Given the description of an element on the screen output the (x, y) to click on. 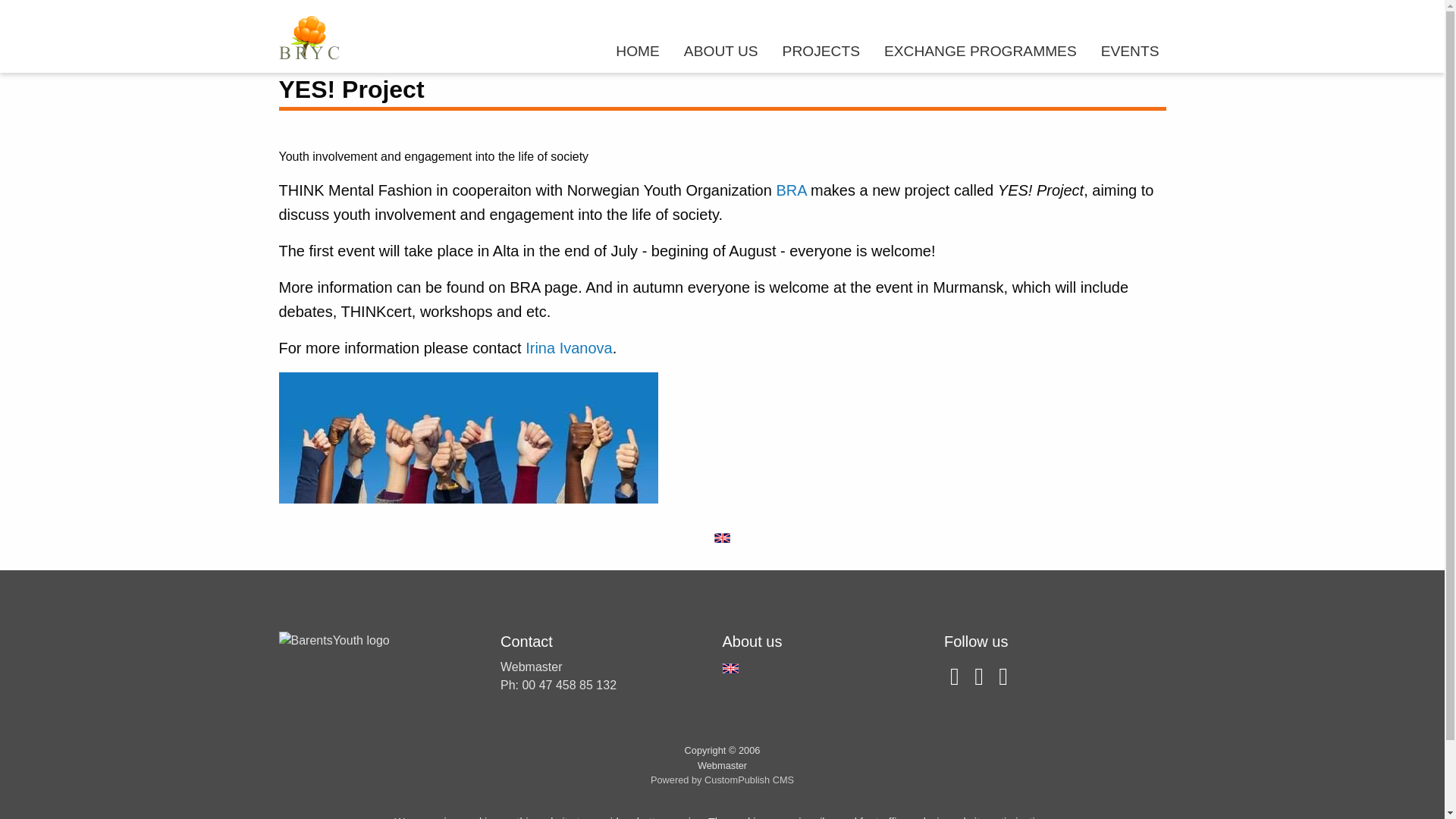
HOME (637, 50)
snapchat (955, 680)
instagram (980, 680)
BRA (791, 190)
PROJECTS (821, 50)
EVENTS (1130, 50)
ABOUT US (720, 50)
EXCHANGE PROGRAMMES (980, 50)
Irina Ivanova (568, 347)
Powered by CustomPublish CMS (721, 779)
